Given the description of an element on the screen output the (x, y) to click on. 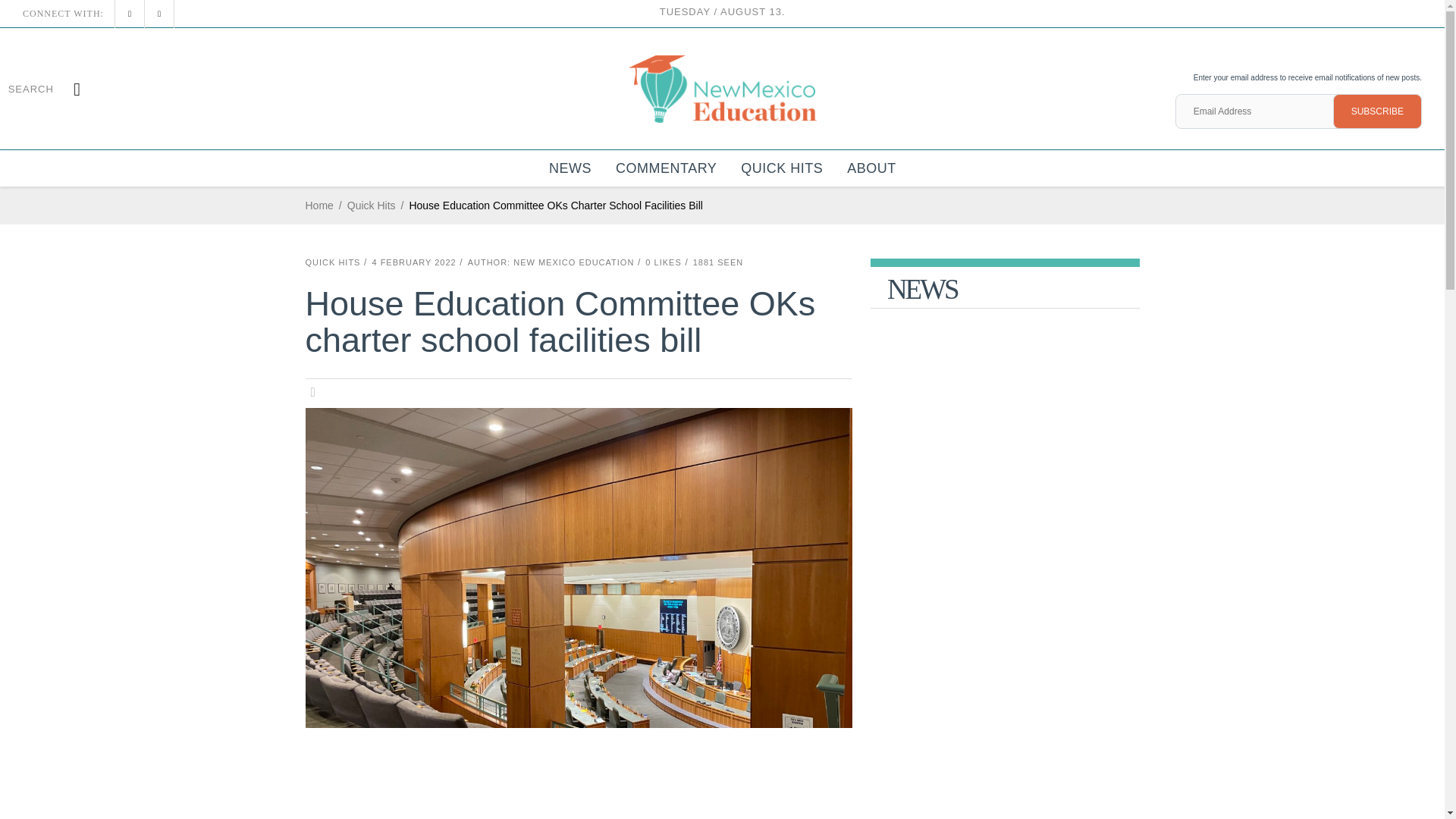
QUICK HITS (331, 261)
AUTHOR: NEW MEXICO EDUCATION (550, 261)
4 FEBRUARY 2022 (413, 261)
COMMENTARY (666, 167)
QUICK HITS (781, 167)
Home (318, 205)
NEWS (570, 167)
ABOUT (871, 167)
SUBSCRIBE (1377, 111)
Quick Hits (371, 205)
